Given the description of an element on the screen output the (x, y) to click on. 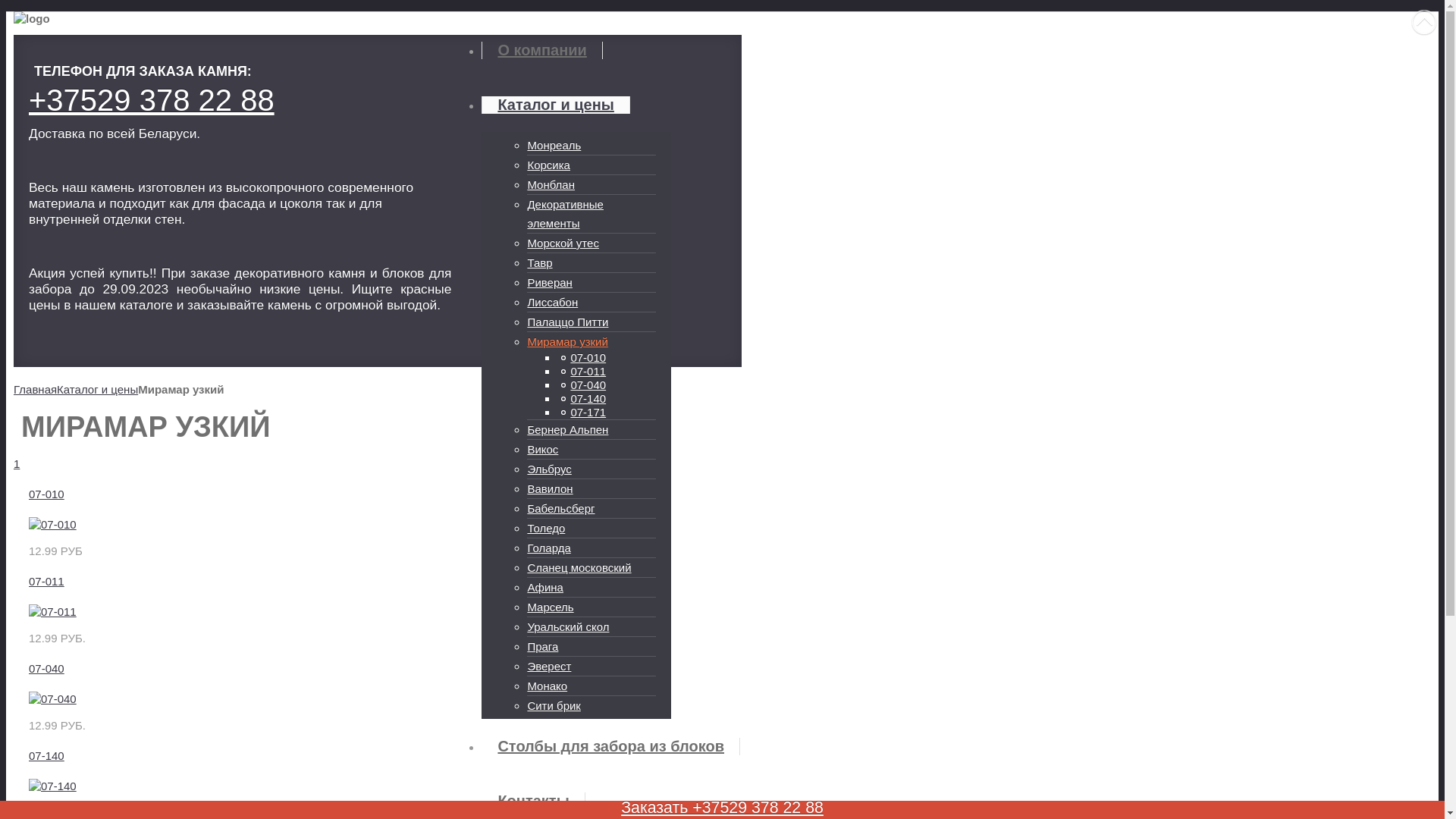
07-140 Element type: text (46, 755)
07-010 Element type: text (46, 493)
07-140 Element type: hover (52, 785)
07-011 Element type: text (581, 370)
07-040 Element type: text (581, 384)
1 Element type: text (16, 463)
07-171 Element type: text (581, 411)
07-011 Element type: text (46, 580)
07-011 Element type: hover (52, 611)
07-010 Element type: hover (52, 523)
07-040 Element type: hover (52, 698)
07-140 Element type: text (581, 398)
07-010 Element type: text (581, 357)
+37529 378 22 88 Element type: text (151, 99)
07-040 Element type: text (46, 668)
